Given the description of an element on the screen output the (x, y) to click on. 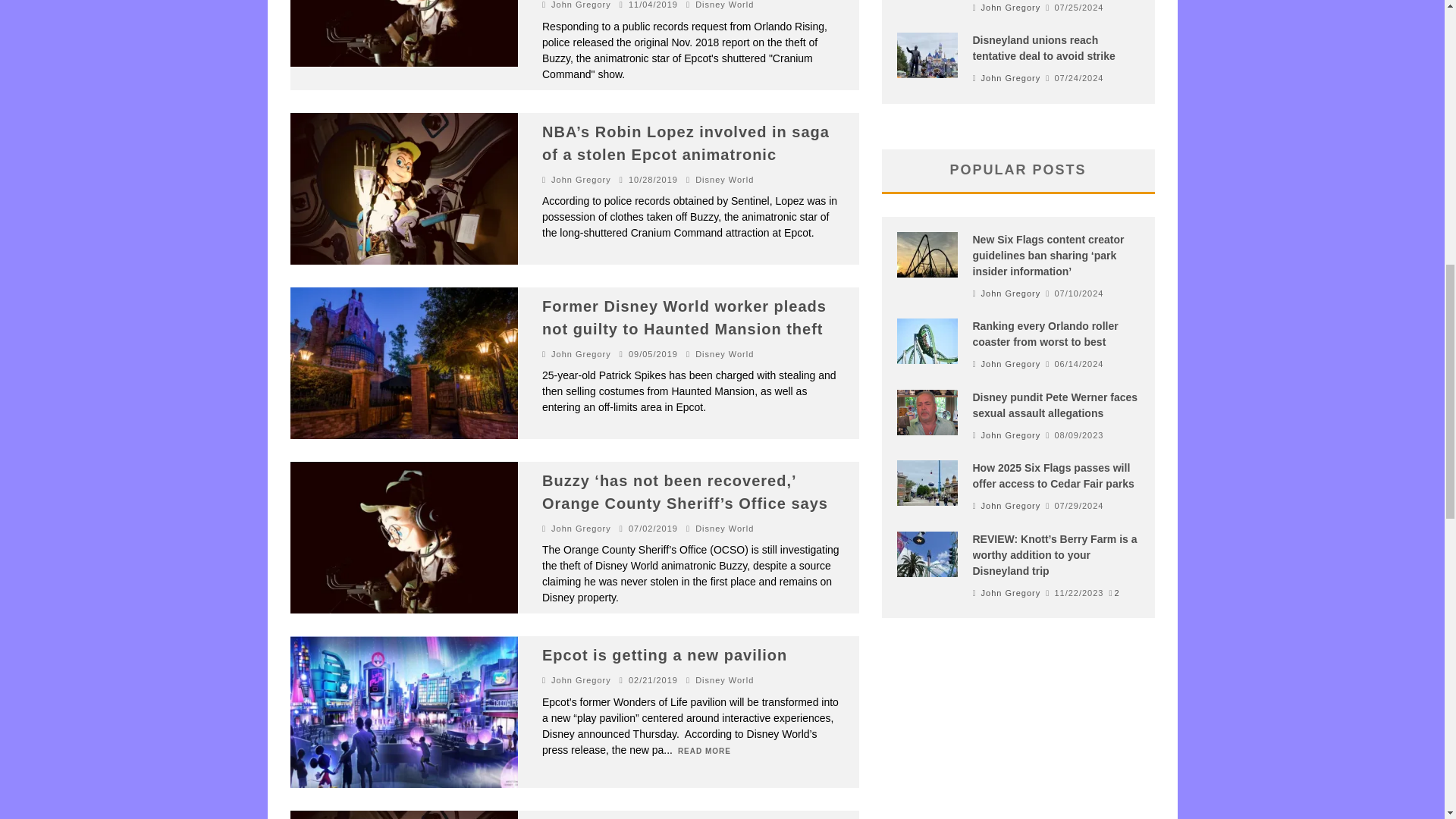
View all posts in Disney World (724, 352)
View all posts in Disney World (724, 4)
View all posts in Disney World (724, 178)
View all posts in Disney World (724, 527)
View all posts in Disney World (724, 679)
